Given the description of an element on the screen output the (x, y) to click on. 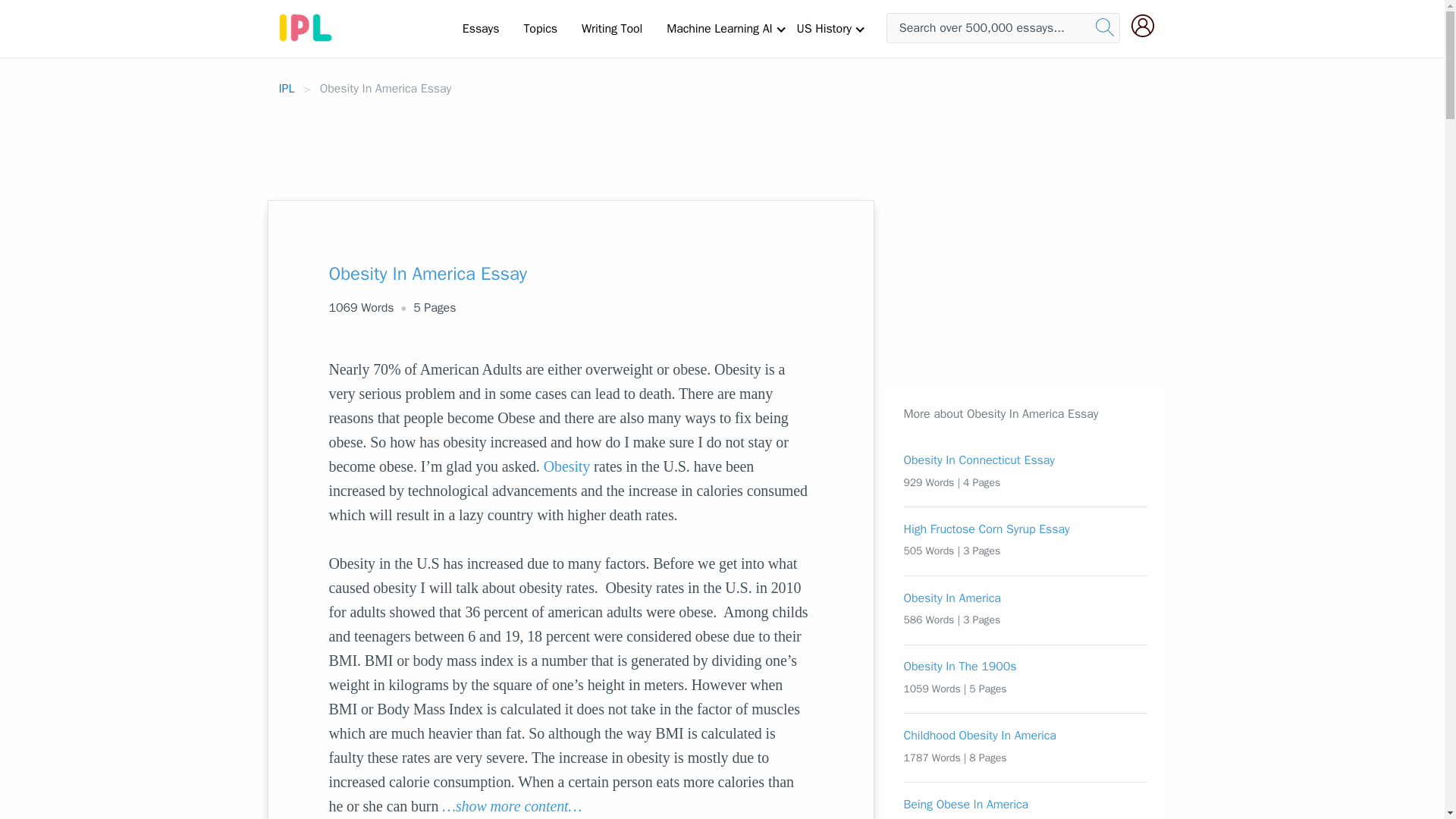
IPL (287, 88)
Obesity (567, 466)
Topics (540, 28)
Essays (480, 28)
Machine Learning AI (718, 28)
Writing Tool (611, 28)
US History (823, 28)
